Given the description of an element on the screen output the (x, y) to click on. 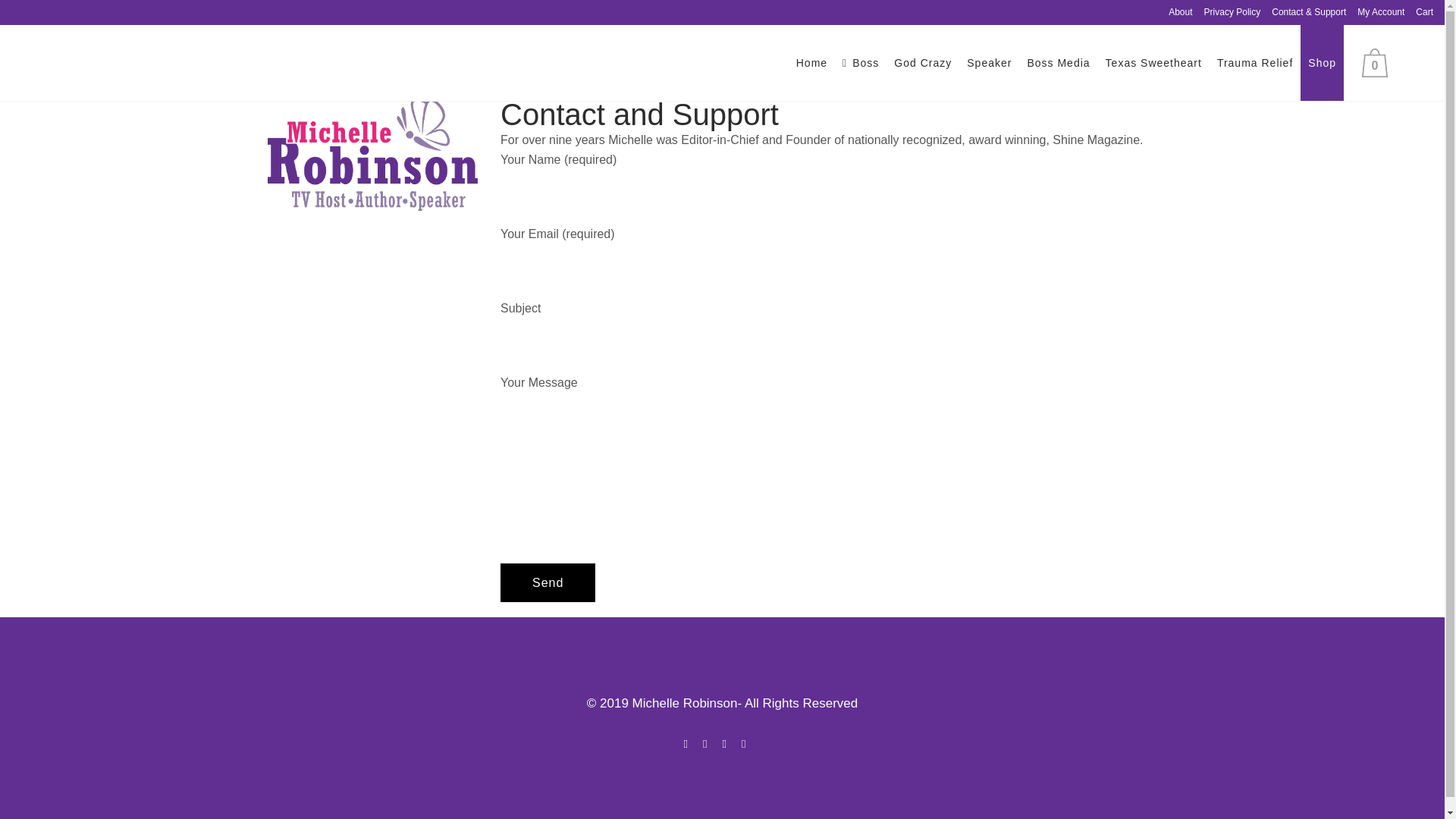
Privacy Policy (1226, 12)
God Crazy (922, 62)
About (1174, 12)
Texas Sweetheart (1153, 62)
My Account (1375, 12)
Send (547, 582)
Send (547, 582)
Trauma Relief (1254, 62)
Boss Media (1058, 62)
0 (1377, 62)
